Given the description of an element on the screen output the (x, y) to click on. 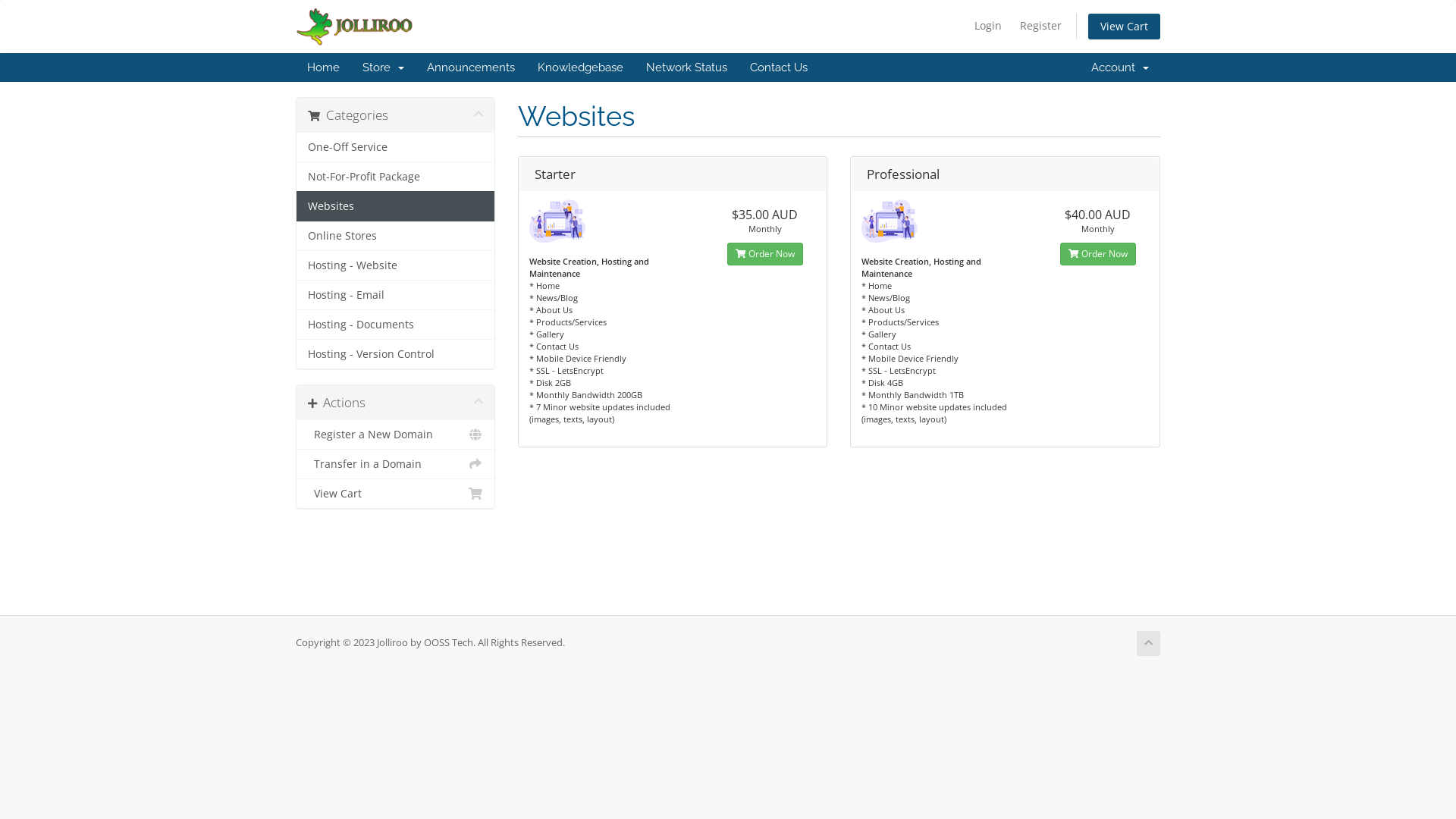
Hosting - Version Control Element type: text (395, 353)
Websites Element type: text (395, 206)
Knowledgebase Element type: text (580, 67)
Order Now Element type: text (1097, 253)
  View Cart Element type: text (395, 493)
Online Stores Element type: text (395, 235)
Home Element type: text (323, 67)
  Register a New Domain Element type: text (395, 434)
Network Status Element type: text (686, 67)
Register Element type: text (1040, 25)
  Transfer in a Domain Element type: text (395, 463)
Login Element type: text (987, 25)
View Cart Element type: text (1124, 26)
Hosting - Documents Element type: text (395, 324)
Account   Element type: text (1119, 67)
Not-For-Profit Package Element type: text (395, 176)
Announcements Element type: text (470, 67)
One-Off Service Element type: text (395, 147)
Contact Us Element type: text (778, 67)
Hosting - Website Element type: text (395, 265)
Hosting - Email Element type: text (395, 294)
Order Now Element type: text (765, 253)
Store   Element type: text (383, 67)
